Given the description of an element on the screen output the (x, y) to click on. 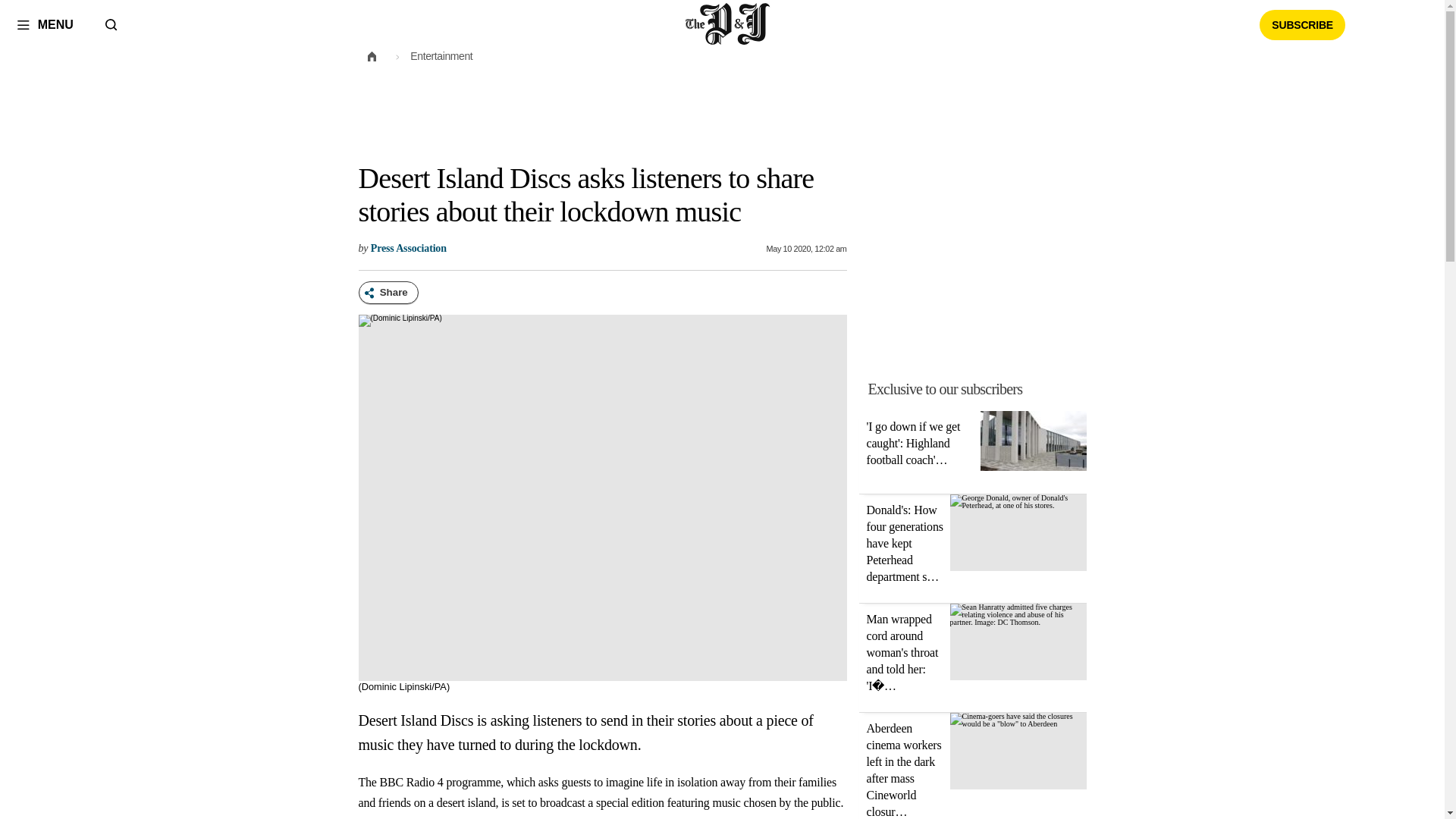
Exclusive to our subscribers (981, 388)
Exclusive to our subscribers (944, 389)
MENU (44, 24)
Press and Journal (727, 24)
